Given the description of an element on the screen output the (x, y) to click on. 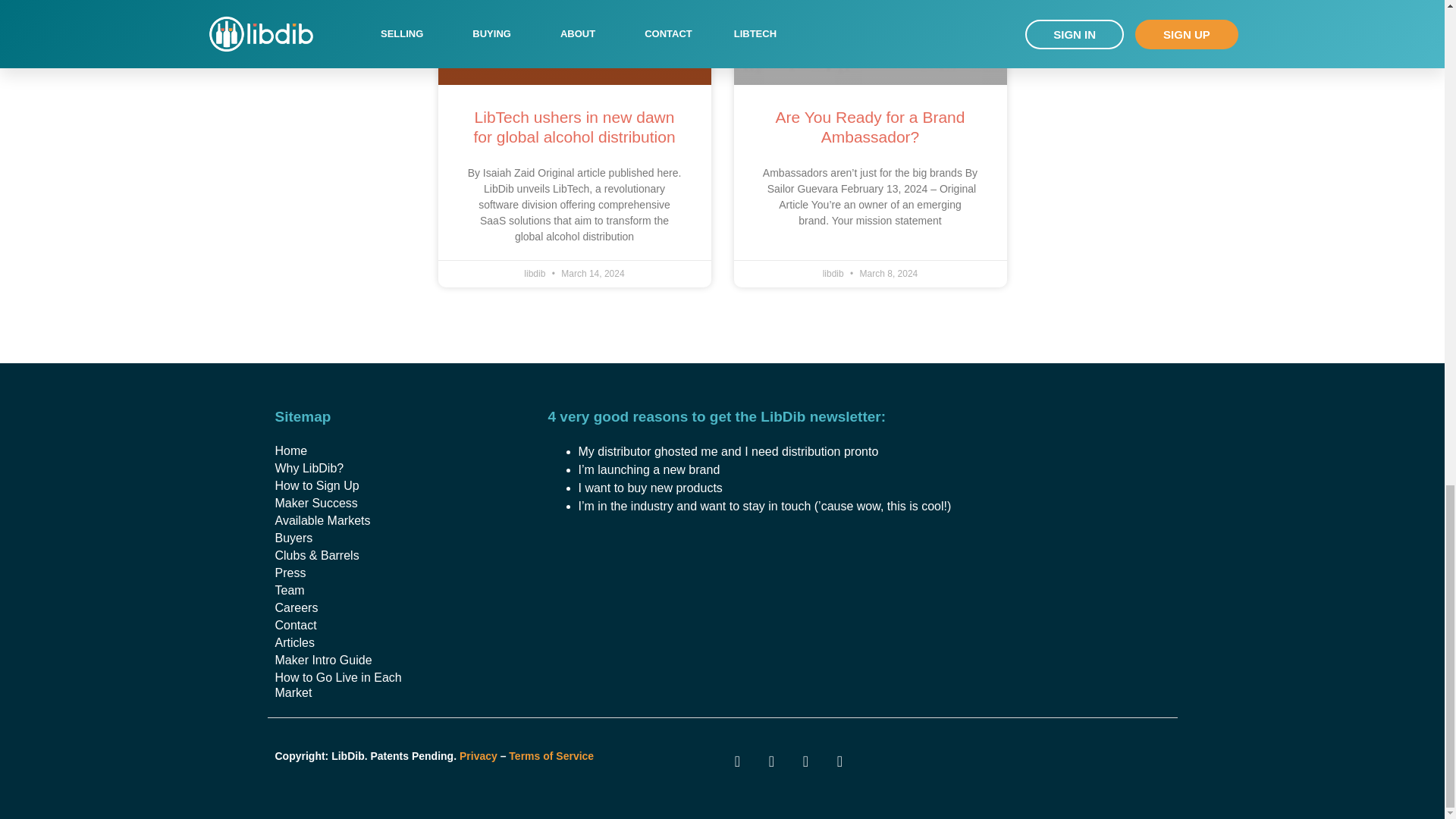
Form 0 (856, 587)
